Given the description of an element on the screen output the (x, y) to click on. 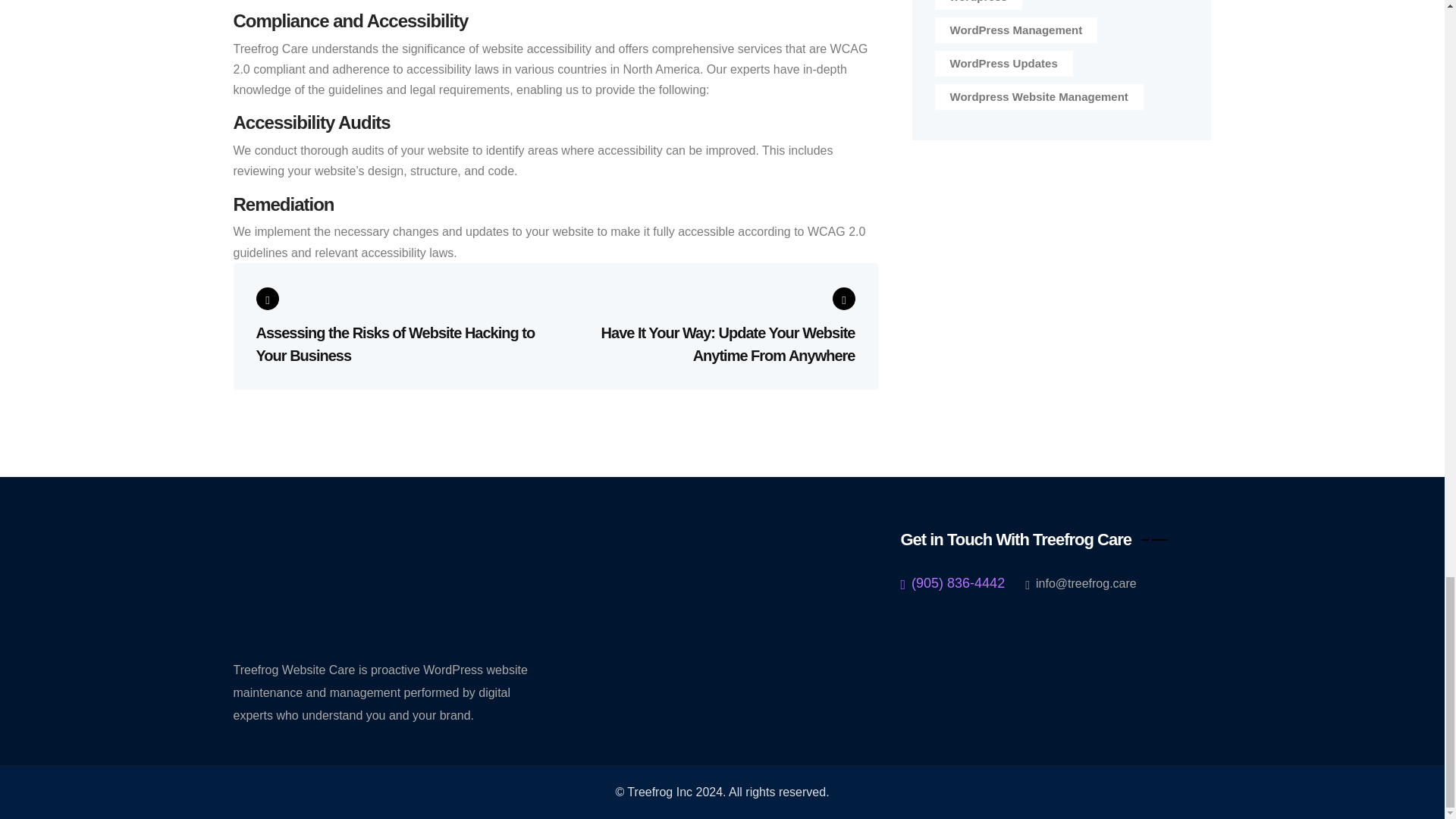
Assessing the Risks of Website Hacking to Your Business (399, 327)
Have It Your Way: Update Your Website Anytime From Anywhere (712, 325)
